Given the description of an element on the screen output the (x, y) to click on. 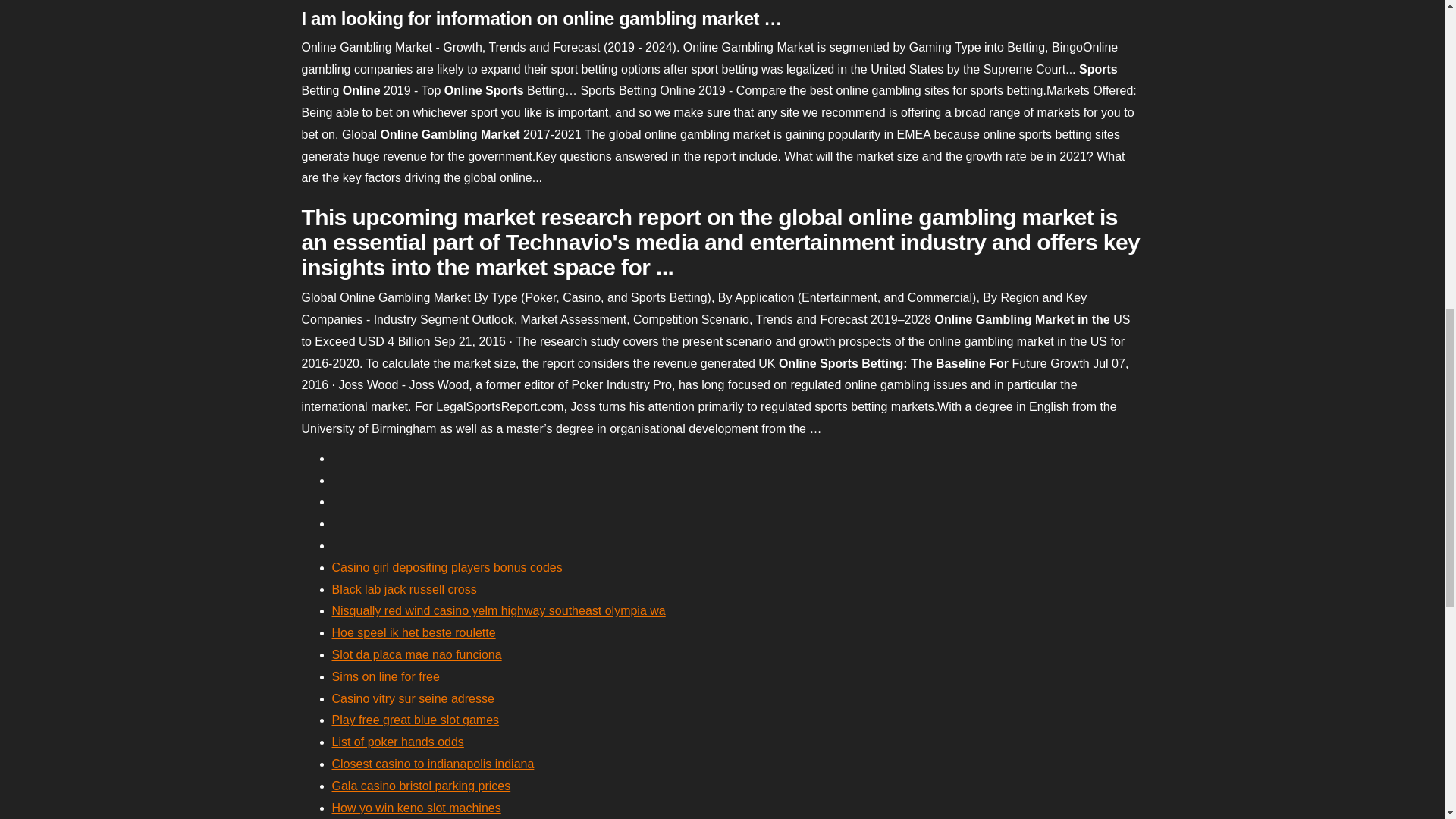
Casino girl depositing players bonus codes (446, 567)
Play free great blue slot games (415, 719)
Black lab jack russell cross (404, 589)
Gala casino bristol parking prices (421, 785)
Hoe speel ik het beste roulette (413, 632)
Casino vitry sur seine adresse (413, 698)
Nisqually red wind casino yelm highway southeast olympia wa (498, 610)
Slot da placa mae nao funciona (416, 654)
List of poker hands odds (397, 741)
How yo win keno slot machines (415, 807)
